Given the description of an element on the screen output the (x, y) to click on. 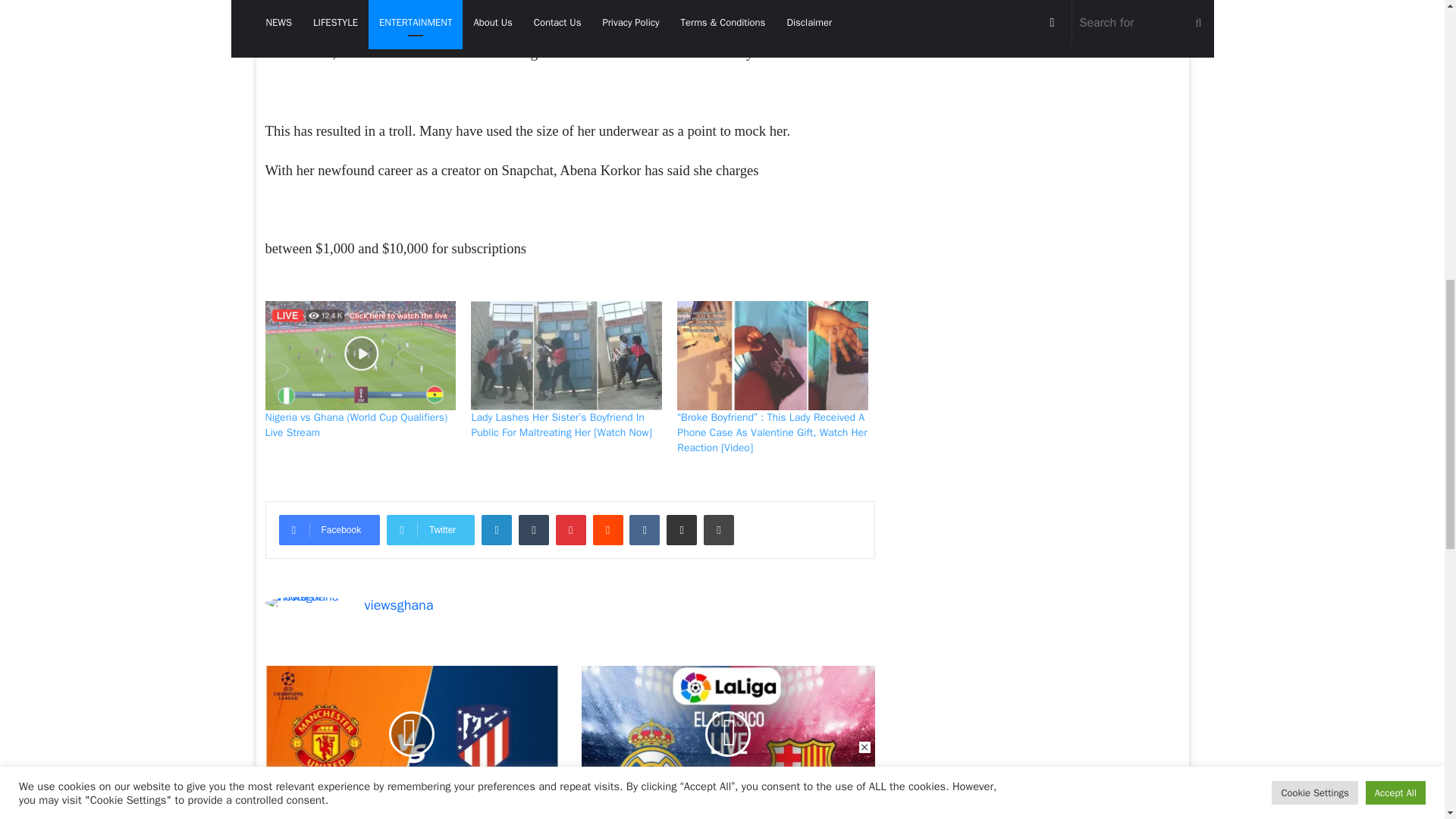
Twitter (430, 530)
Print (718, 530)
Pinterest (571, 530)
VKontakte (643, 530)
Facebook (329, 530)
Tumblr (533, 530)
Reddit (607, 530)
Share via Email (681, 530)
LinkedIn (496, 530)
